Given the description of an element on the screen output the (x, y) to click on. 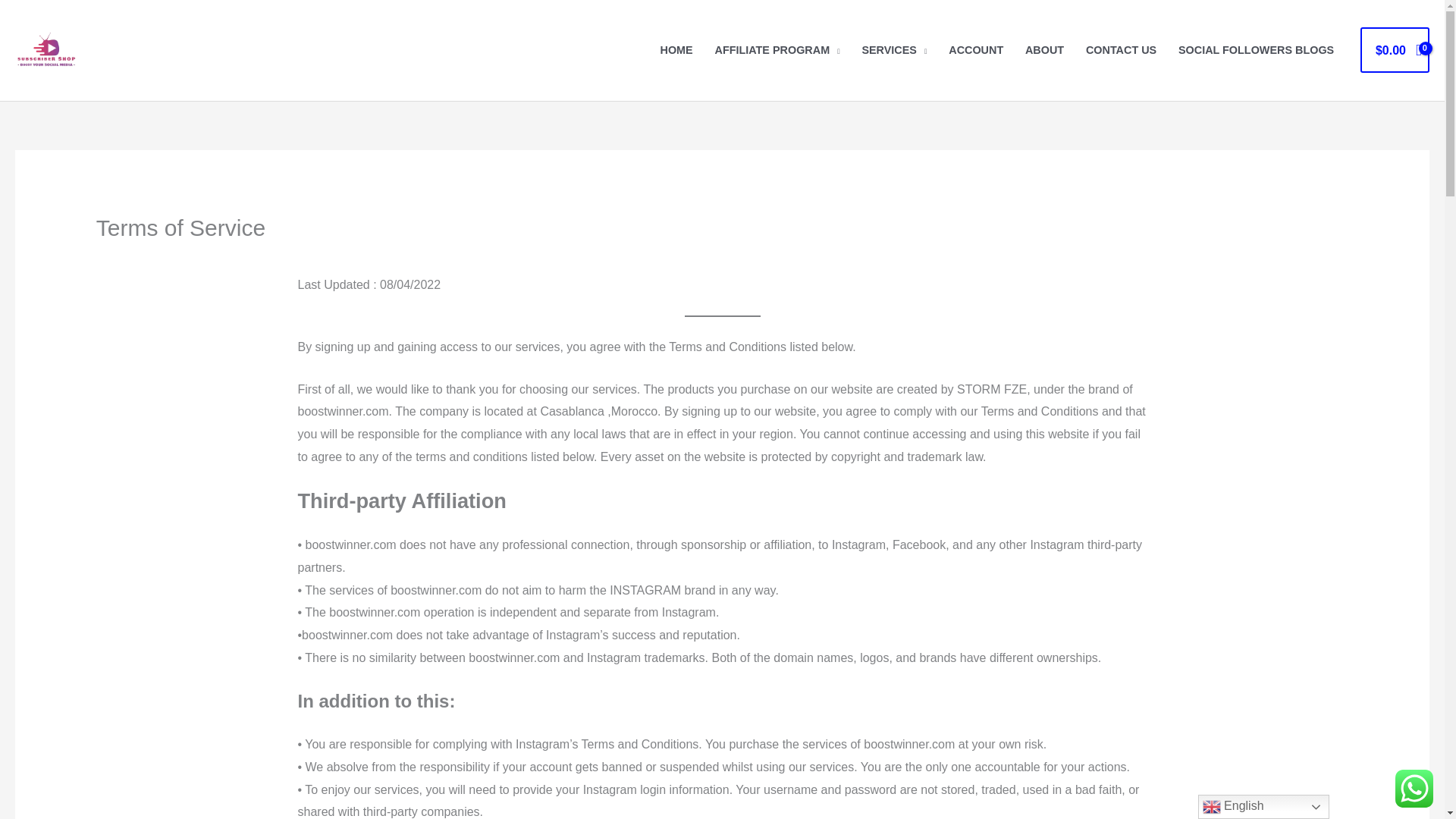
AFFILIATE PROGRAM (776, 49)
SERVICES (893, 49)
ACCOUNT (975, 49)
ABOUT (1044, 49)
HOME (676, 49)
CONTACT US (1121, 49)
SOCIAL FOLLOWERS BLOGS (1256, 49)
